Given the description of an element on the screen output the (x, y) to click on. 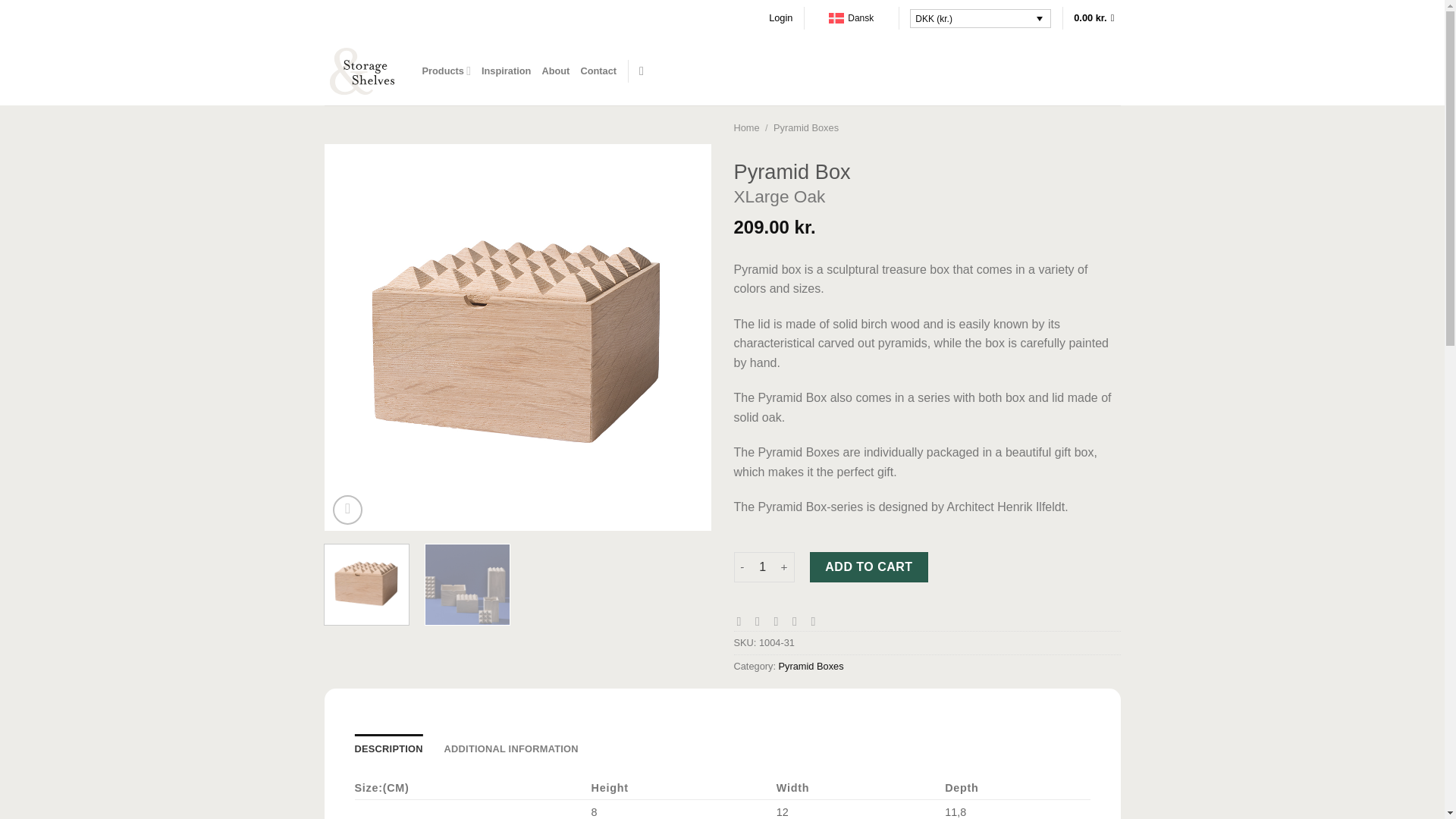
Zoom (347, 509)
Login (780, 17)
About (555, 71)
Inspiration (506, 71)
Login (780, 17)
Pyramid Box XLarge Oak 3 (467, 586)
0.00 kr. (1096, 17)
